Given the description of an element on the screen output the (x, y) to click on. 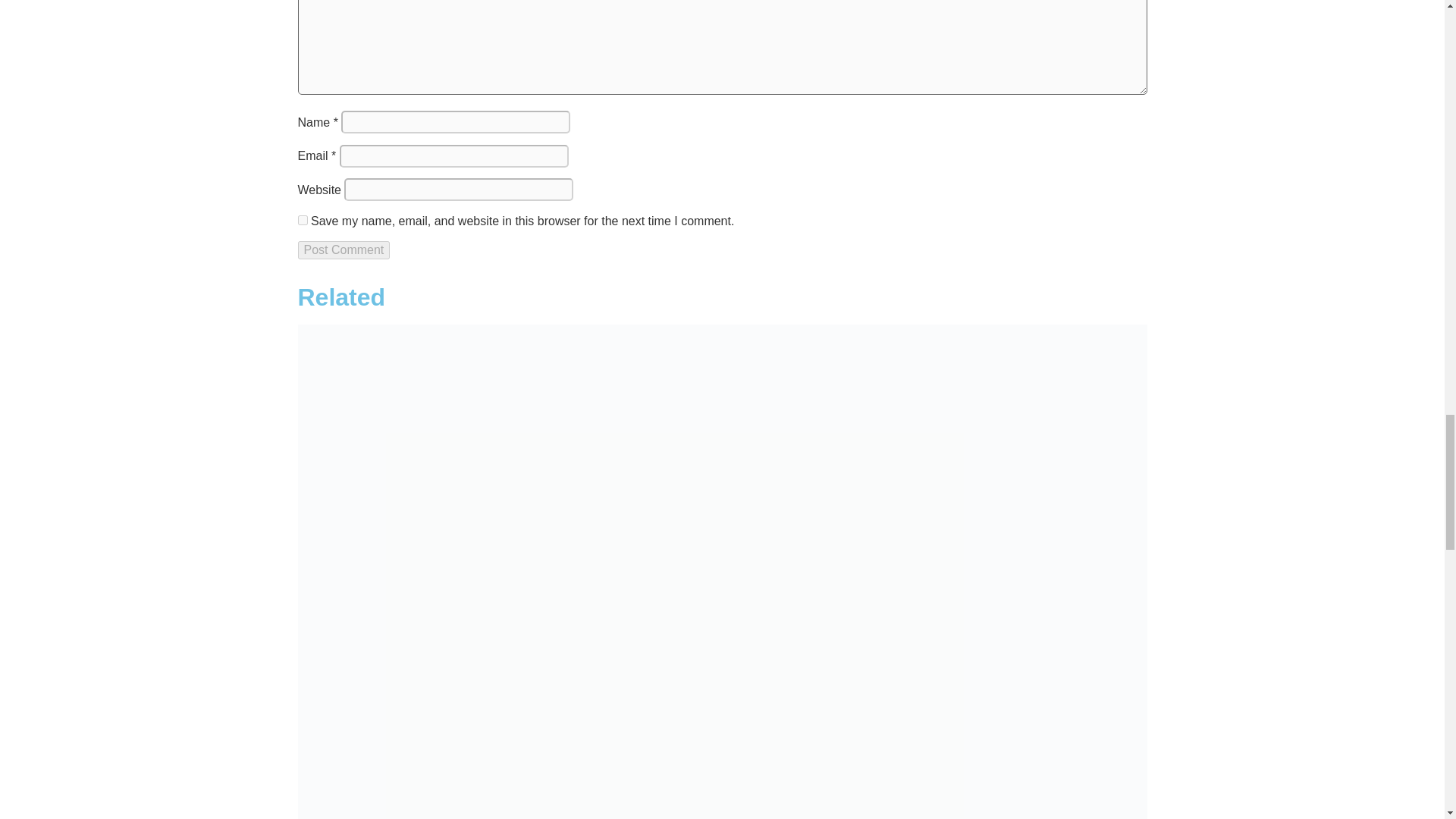
yes (302, 220)
Post Comment (343, 249)
